Given the description of an element on the screen output the (x, y) to click on. 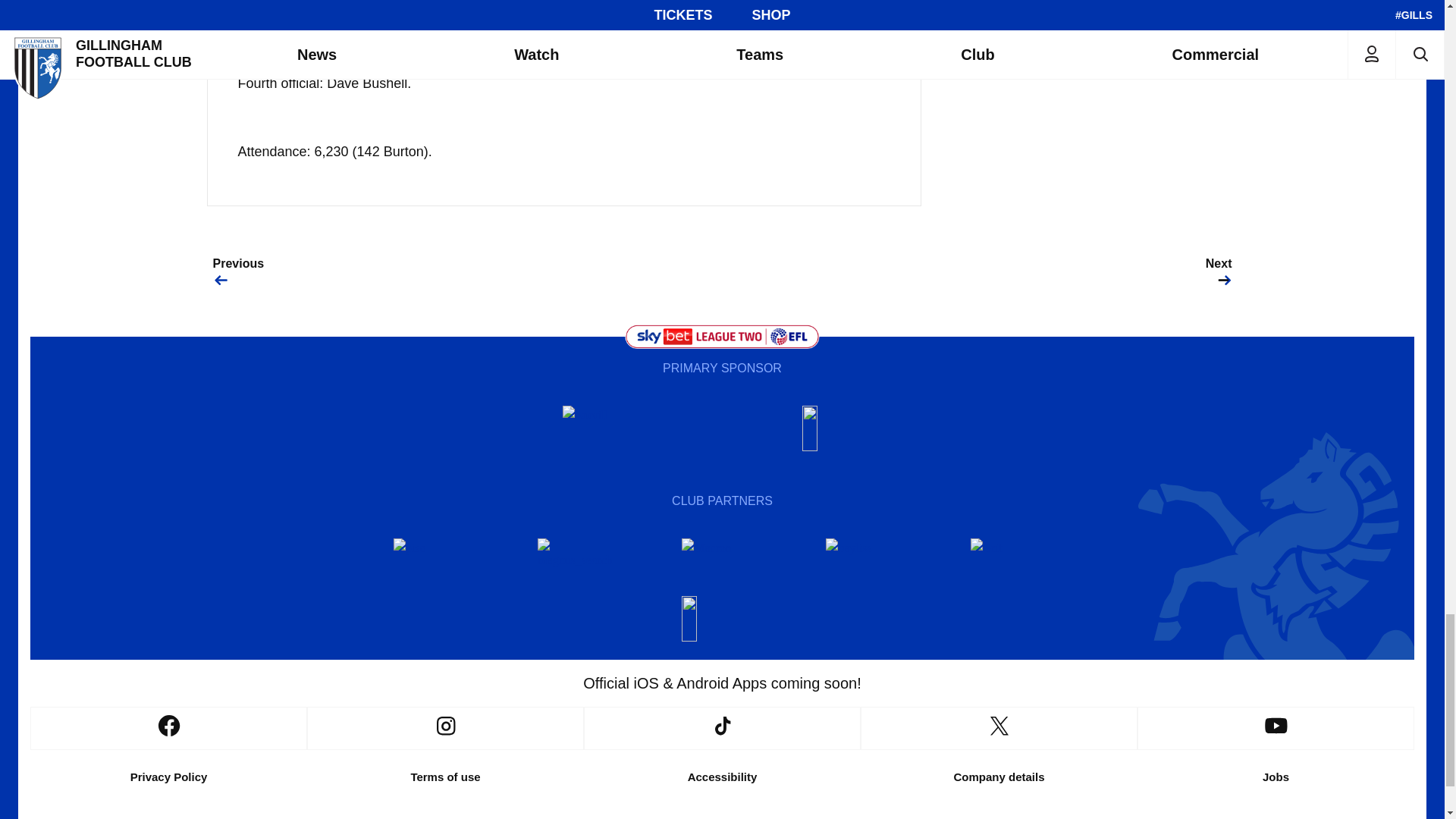
MEMS Power Generation (841, 428)
Hochiki (720, 618)
PISO (433, 560)
GRIT (1010, 560)
Bayliss (866, 560)
Macron (720, 560)
Bauvill (601, 428)
Magnus Search Recruitment (577, 560)
